Given the description of an element on the screen output the (x, y) to click on. 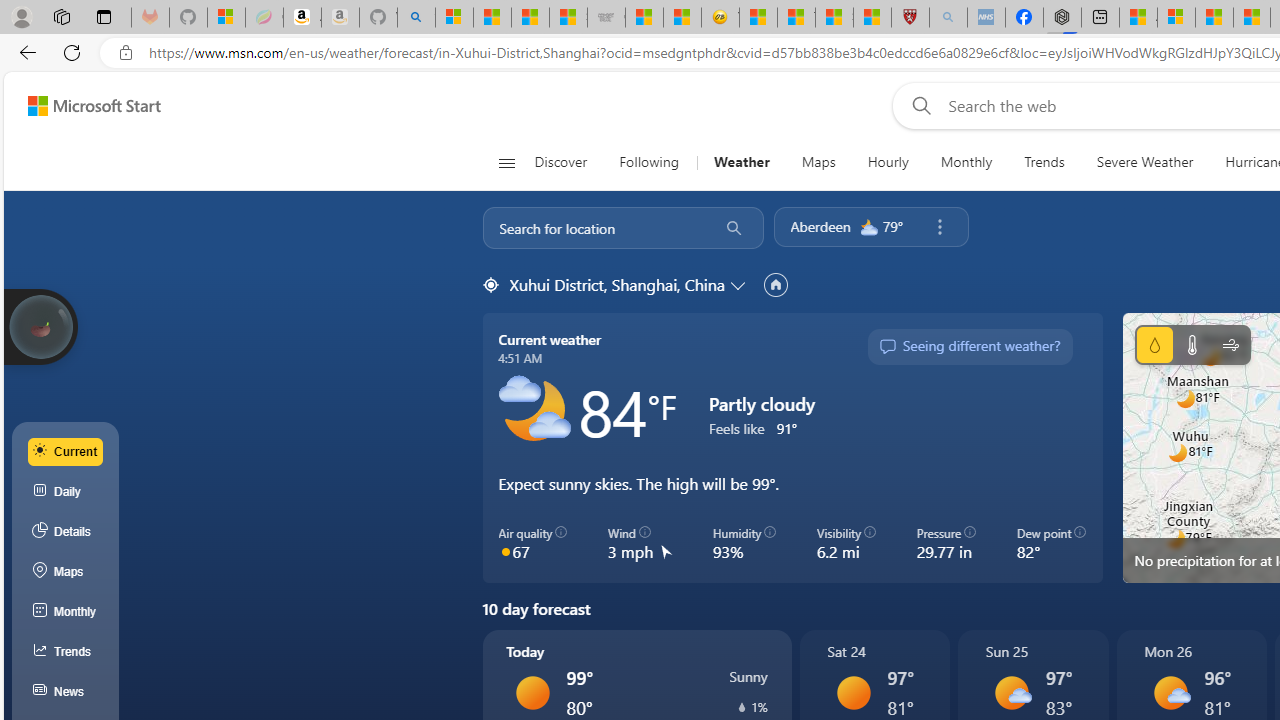
Monthly (65, 611)
Monthly (966, 162)
Remove location (939, 227)
Partly cloudy (533, 411)
Precipitation (742, 707)
Air quality 67 (532, 543)
